Given the description of an element on the screen output the (x, y) to click on. 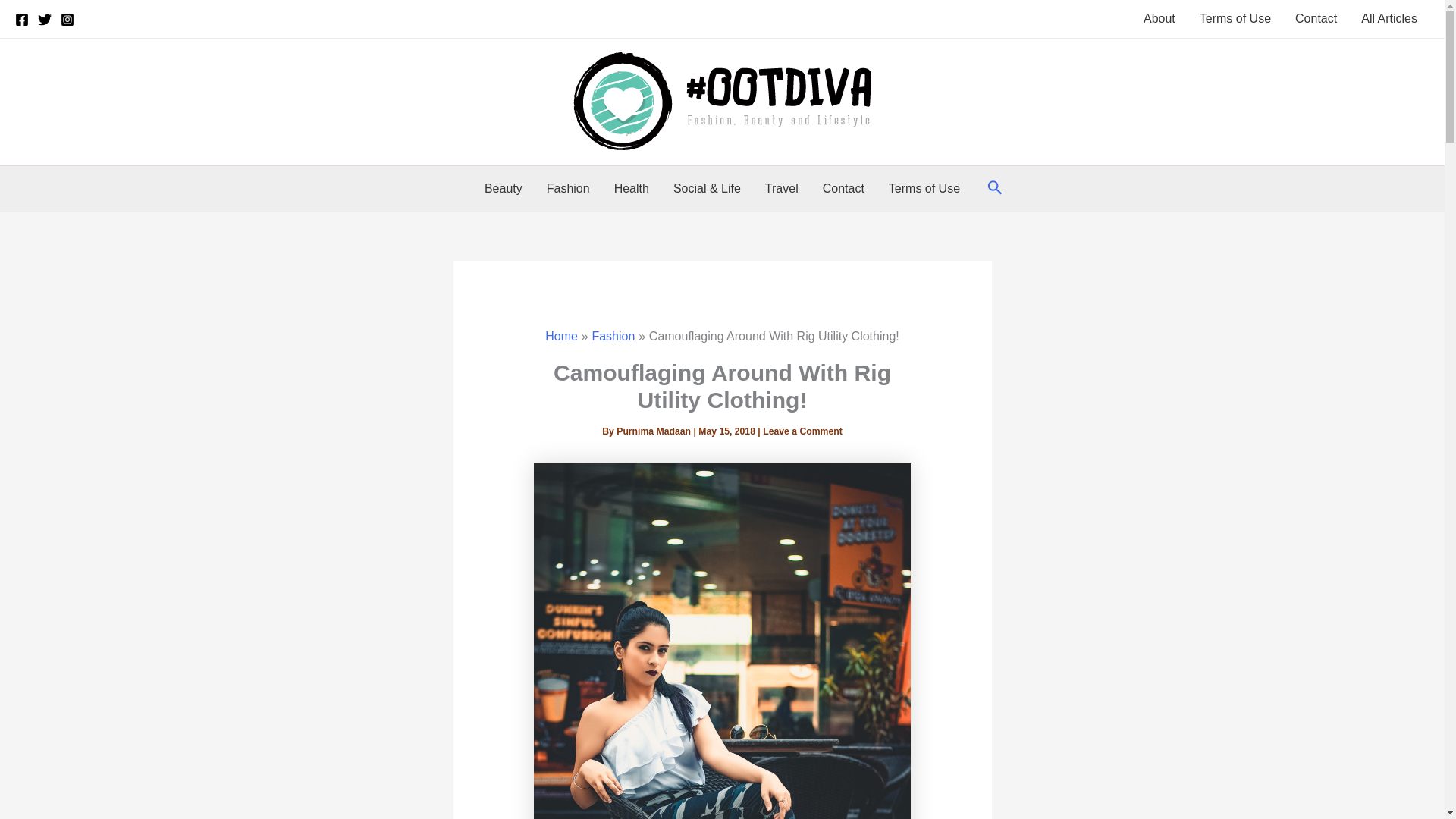
Home (561, 336)
Contact (1315, 18)
Contact (843, 188)
Fashion (612, 336)
View all posts by Purnima Madaan (654, 430)
Health (631, 188)
About (1159, 18)
Terms of Use (1235, 18)
Travel (781, 188)
Terms of Use (924, 188)
All Articles (1389, 18)
Beauty (502, 188)
Fashion (568, 188)
Purnima Madaan (654, 430)
Leave a Comment (802, 430)
